Given the description of an element on the screen output the (x, y) to click on. 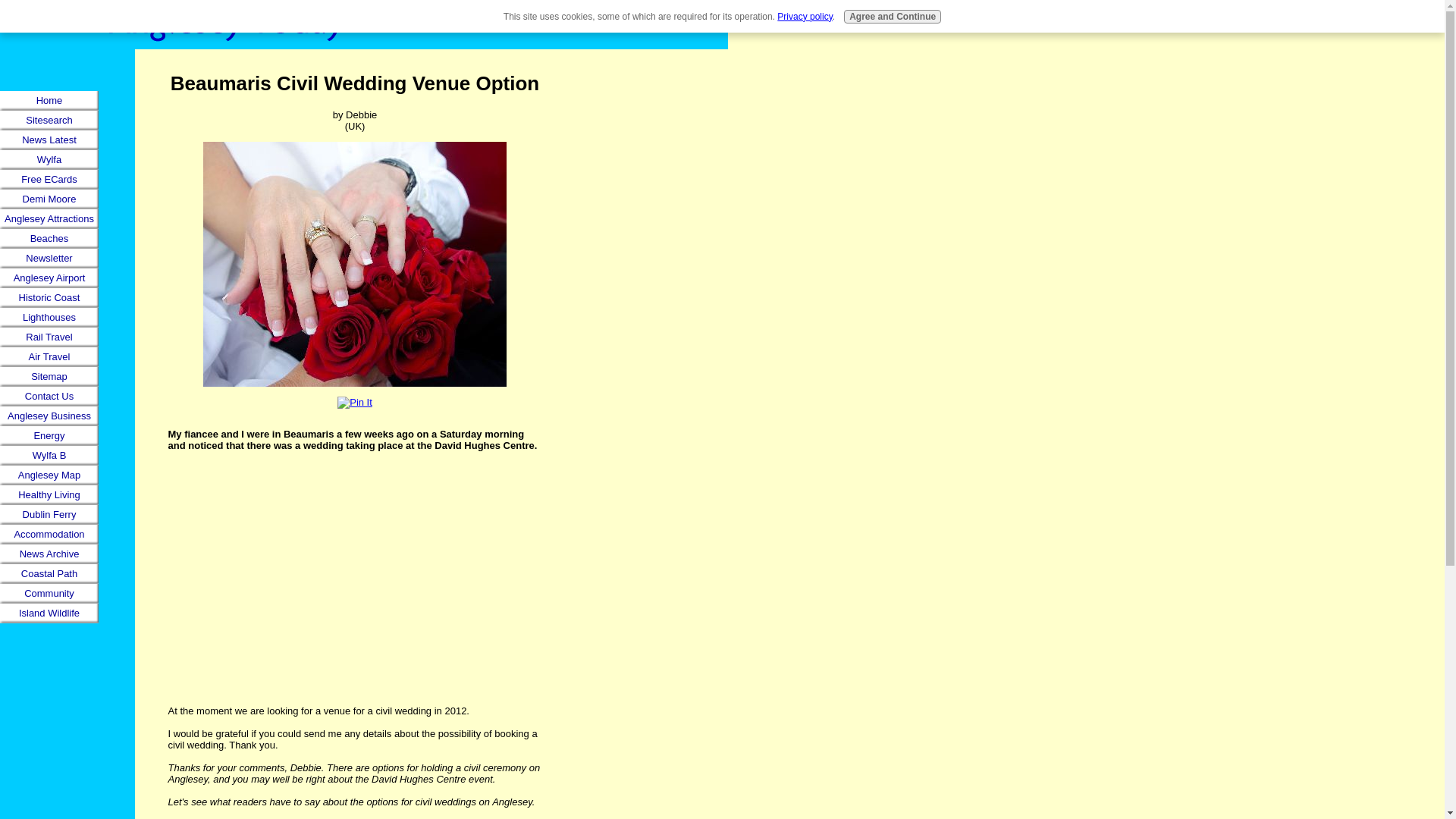
News Latest (49, 139)
Anglesey Airport (49, 278)
Sitesearch (49, 120)
Anglesey Business (49, 415)
Agree and Continue (892, 16)
Privacy policy (804, 16)
Newsletter (49, 258)
Anglesey Attractions (49, 219)
Wylfa (49, 159)
Pin It (354, 402)
Healthy Living (49, 495)
Wylfa B (49, 455)
Contact Us (49, 396)
Dublin Ferry (49, 514)
Rail Travel (49, 337)
